Given the description of an element on the screen output the (x, y) to click on. 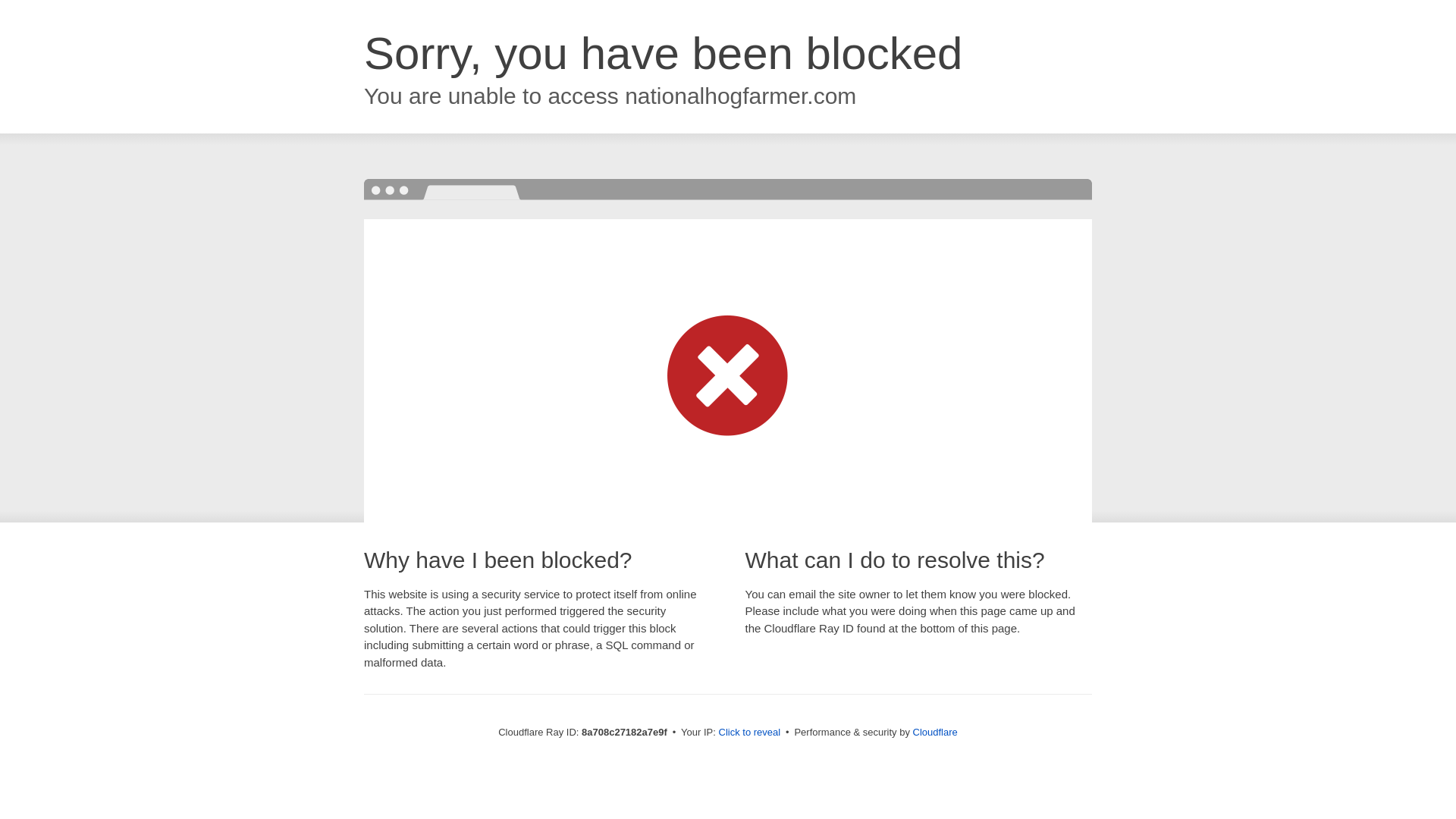
Click to reveal (749, 732)
Cloudflare (935, 731)
